Given the description of an element on the screen output the (x, y) to click on. 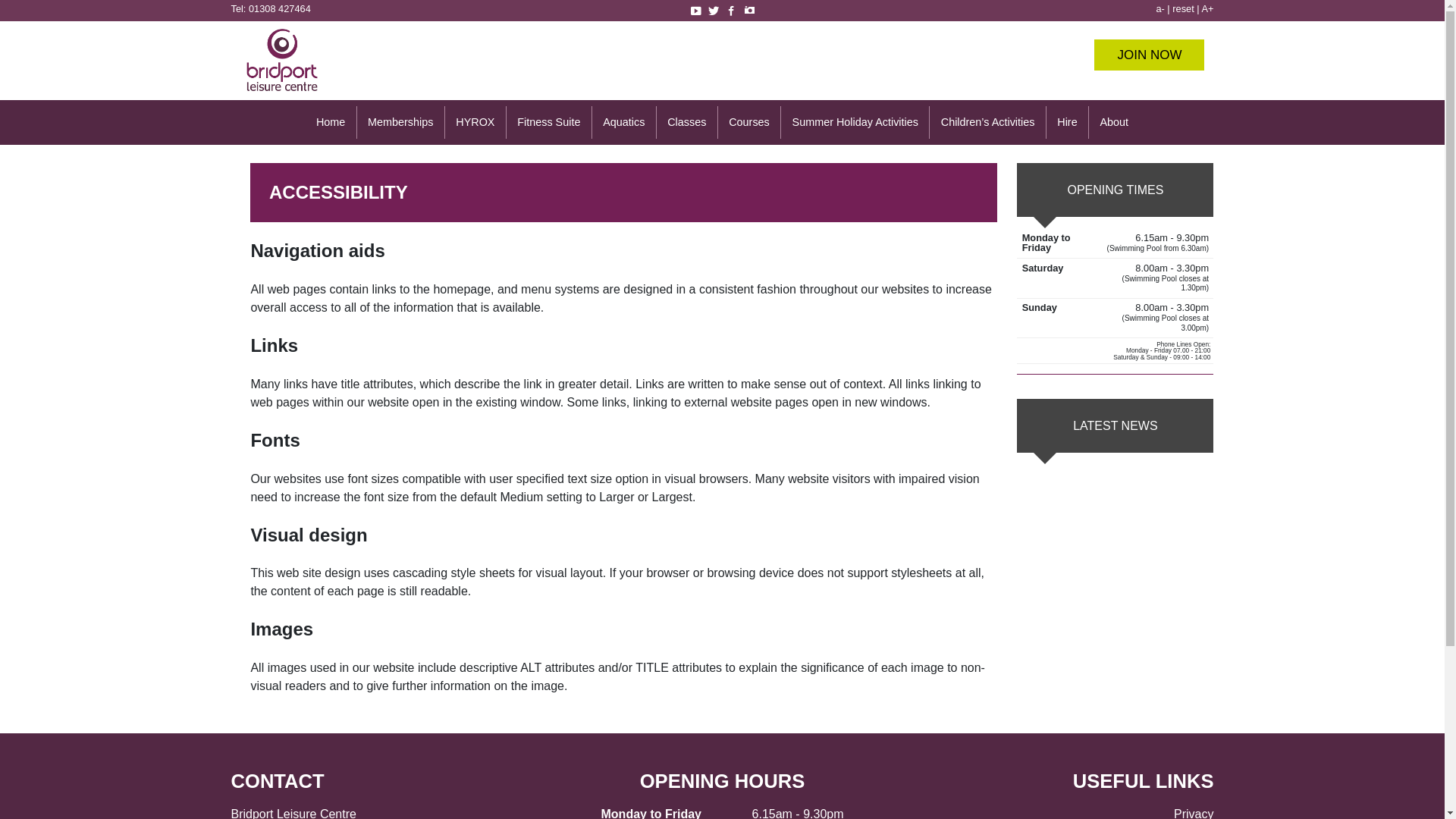
View Bridport Leisure on Instagram (749, 10)
View Bridport Leisure on YouTube (695, 10)
View Bridport Leisure on Twitter (713, 10)
Home - Bridport Leisure (281, 92)
View Bridport Leisure on Facebook (730, 10)
Call Bridport Leisure (279, 8)
